Given the description of an element on the screen output the (x, y) to click on. 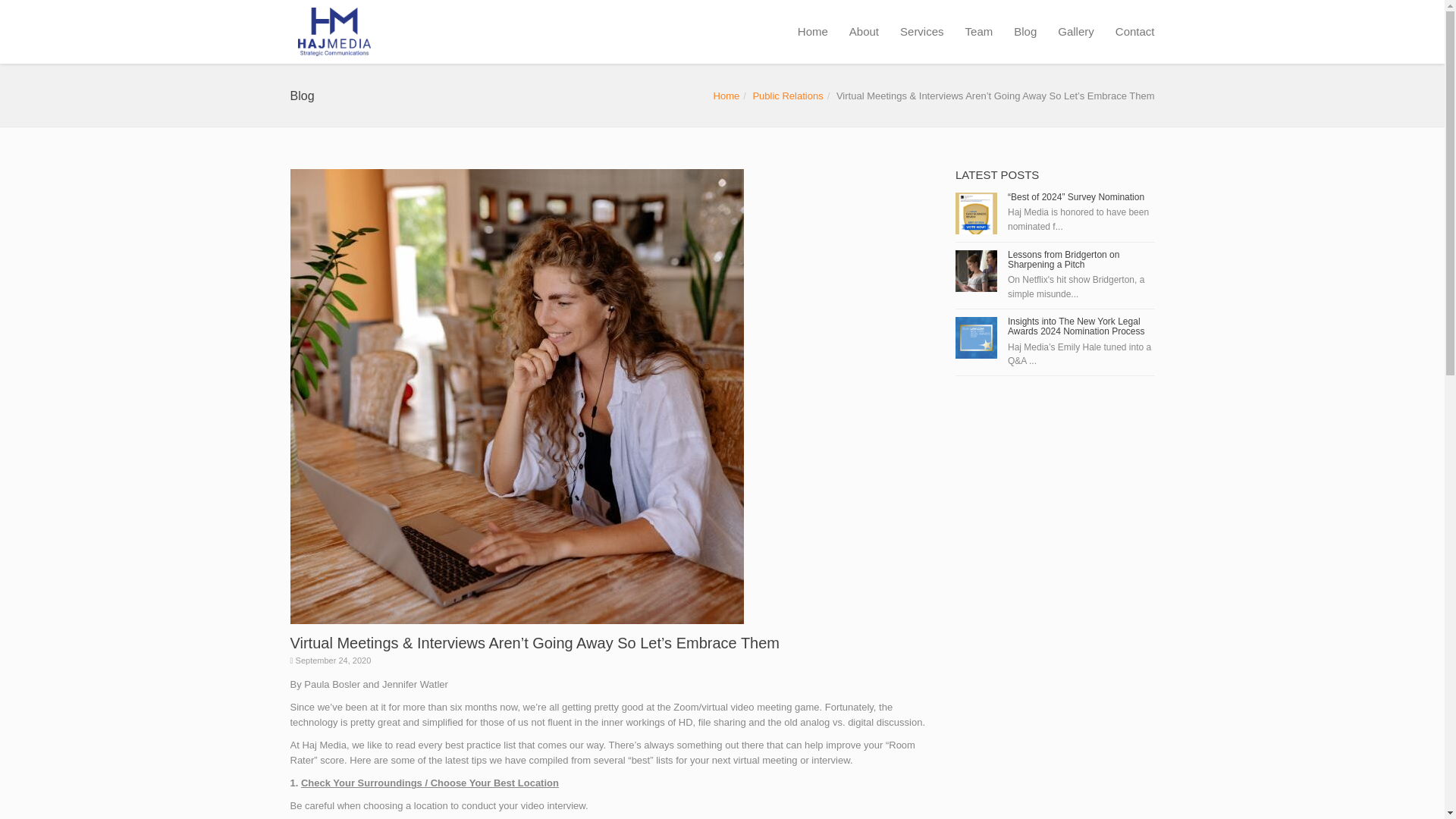
Services (922, 31)
Public Relations (787, 95)
Gallery (1075, 31)
Home (726, 95)
Lessons from Bridgerton on Sharpening a Pitch (1063, 259)
